Given the description of an element on the screen output the (x, y) to click on. 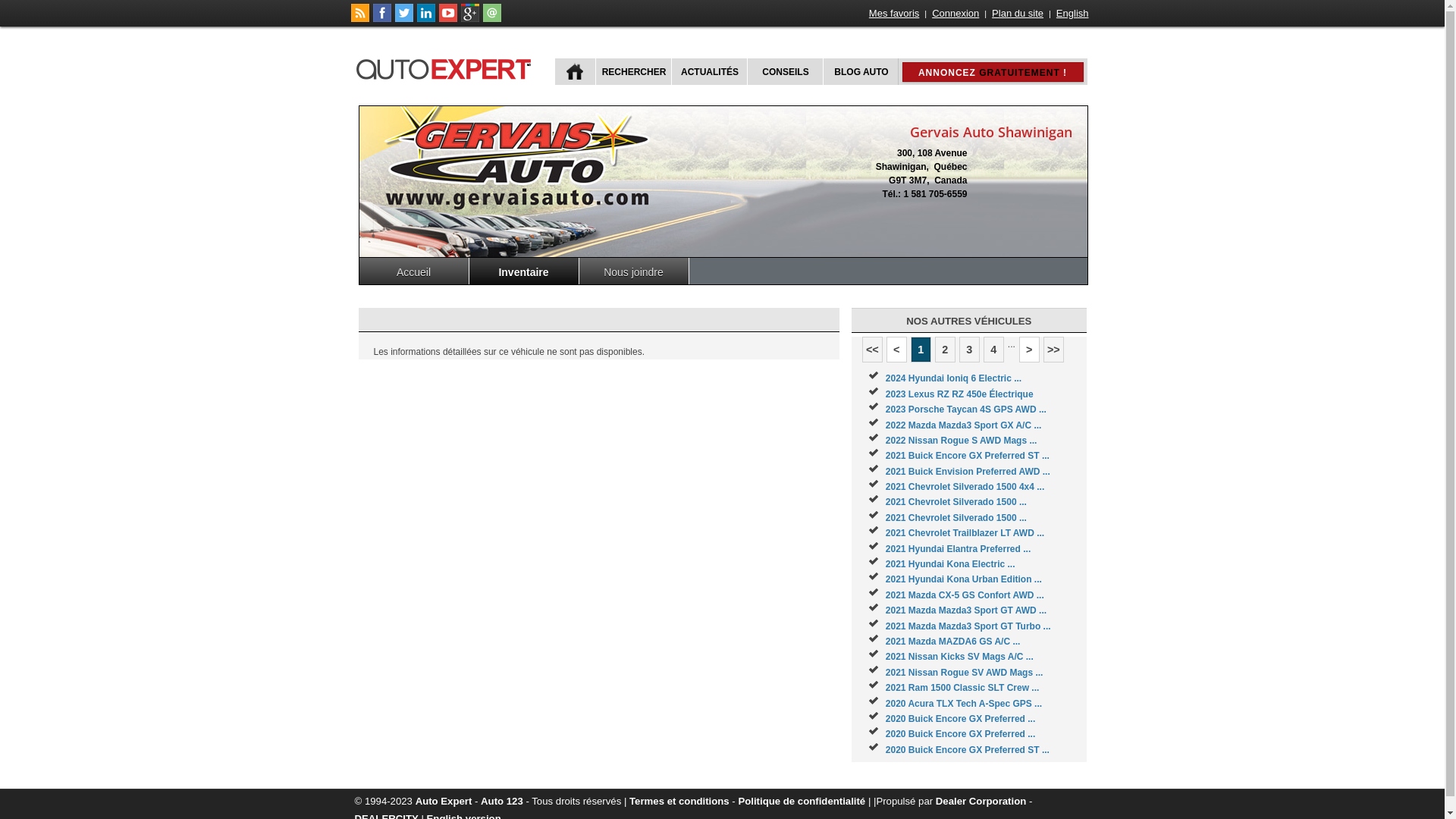
Suivez autoExpert.ca sur Facebook Element type: hover (382, 18)
2023 Porsche Taycan 4S GPS AWD ... Element type: text (965, 409)
< Element type: text (896, 349)
> Element type: text (1029, 349)
Mes favoris Element type: text (893, 13)
Inventaire Element type: text (523, 270)
2022 Mazda Mazda3 Sport GX A/C ... Element type: text (963, 425)
1 Element type: text (920, 349)
Suivez autoExpert.ca sur Twitter Element type: hover (403, 18)
Nous joindre Element type: text (634, 270)
CONSEILS Element type: text (783, 71)
2020 Buick Encore GX Preferred ST ... Element type: text (967, 749)
2021 Ram 1500 Classic SLT Crew ... Element type: text (962, 687)
autoExpert.ca Element type: text (446, 66)
2021 Chevrolet Trailblazer LT AWD ... Element type: text (964, 532)
Dealer Corporation Element type: text (980, 800)
2021 Mazda CX-5 GS Confort AWD ... Element type: text (964, 594)
2021 Mazda MAZDA6 GS A/C ... Element type: text (952, 641)
Suivez autoExpert.ca sur Google Plus Element type: hover (470, 18)
2021 Hyundai Kona Urban Edition ... Element type: text (963, 579)
2021 Nissan Rogue SV AWD Mags ... Element type: text (964, 672)
BLOG AUTO Element type: text (859, 71)
Suivez Publications Le Guide Inc. sur LinkedIn Element type: hover (426, 18)
Auto 123 Element type: text (501, 800)
Auto Expert Element type: text (443, 800)
2021 Chevrolet Silverado 1500 ... Element type: text (955, 501)
<< Element type: text (872, 349)
2020 Buick Encore GX Preferred ... Element type: text (960, 718)
3 Element type: text (969, 349)
2021 Hyundai Elantra Preferred ... Element type: text (957, 548)
2 Element type: text (945, 349)
ACCUEIL Element type: text (575, 71)
RECHERCHER Element type: text (631, 71)
2024 Hyundai Ioniq 6 Electric ... Element type: text (953, 378)
Termes et conditions Element type: text (679, 800)
2020 Buick Encore GX Preferred ... Element type: text (960, 733)
Suivez autoExpert.ca sur Youtube Element type: hover (447, 18)
2021 Hyundai Kona Electric ... Element type: text (950, 563)
>> Element type: text (1053, 349)
ANNONCEZ GRATUITEMENT ! Element type: text (992, 71)
2021 Nissan Kicks SV Mags A/C ... Element type: text (959, 656)
Plan du site Element type: text (1017, 13)
4 Element type: text (993, 349)
Joindre autoExpert.ca Element type: hover (491, 18)
2021 Chevrolet Silverado 1500 4x4 ... Element type: text (964, 486)
2021 Mazda Mazda3 Sport GT Turbo ... Element type: text (968, 626)
2020 Acura TLX Tech A-Spec GPS ... Element type: text (963, 703)
2021 Buick Encore GX Preferred ST ... Element type: text (967, 455)
2021 Chevrolet Silverado 1500 ... Element type: text (955, 517)
English Element type: text (1072, 13)
Connexion Element type: text (955, 13)
2021 Mazda Mazda3 Sport GT AWD ... Element type: text (965, 610)
2021 Buick Envision Preferred AWD ... Element type: text (967, 471)
Accueil Element type: text (414, 270)
2022 Nissan Rogue S AWD Mags ... Element type: text (961, 440)
